Given the description of an element on the screen output the (x, y) to click on. 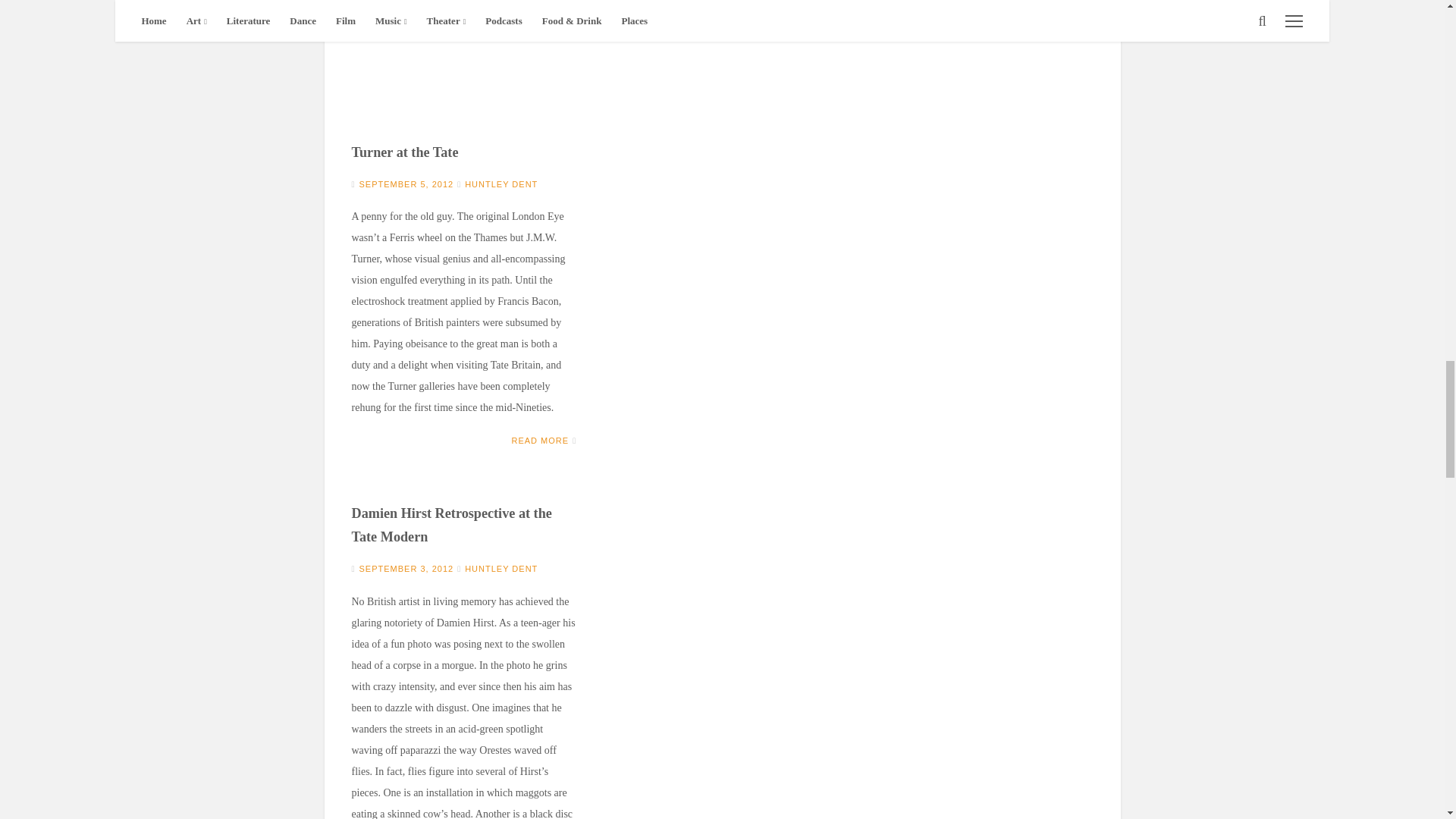
READ MORE (540, 440)
Turner at the Tate (405, 151)
Turner at the Tate (464, 65)
HUNTLEY DENT (500, 184)
